Given the description of an element on the screen output the (x, y) to click on. 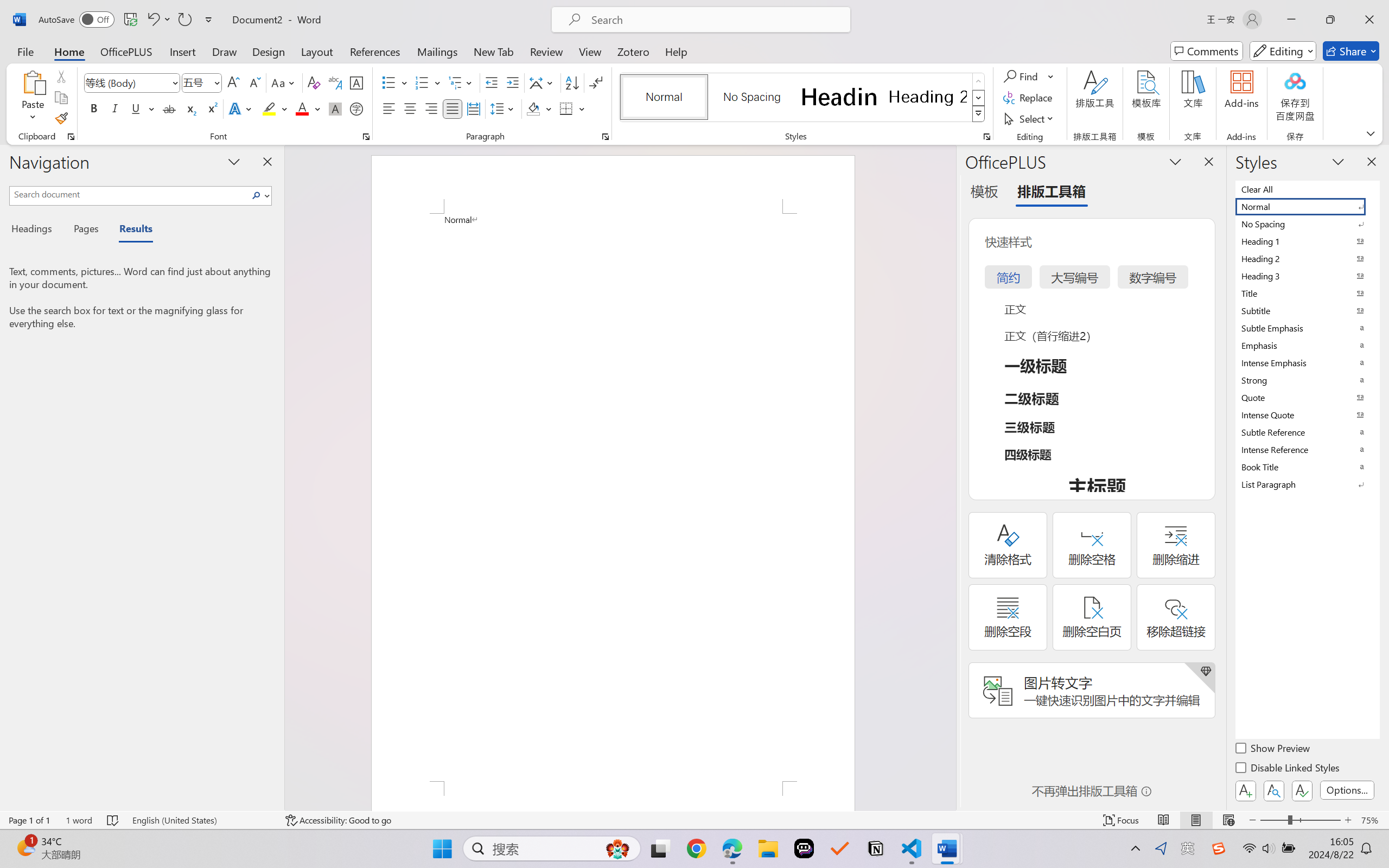
Grow Font (233, 82)
Superscript (210, 108)
Options... (1346, 789)
Design (268, 51)
File Tab (24, 51)
Increase Indent (512, 82)
Draw (224, 51)
AutoSave (76, 19)
Office Clipboard... (70, 136)
Class: NetUIImage (978, 114)
List Paragraph (1306, 484)
